Given the description of an element on the screen output the (x, y) to click on. 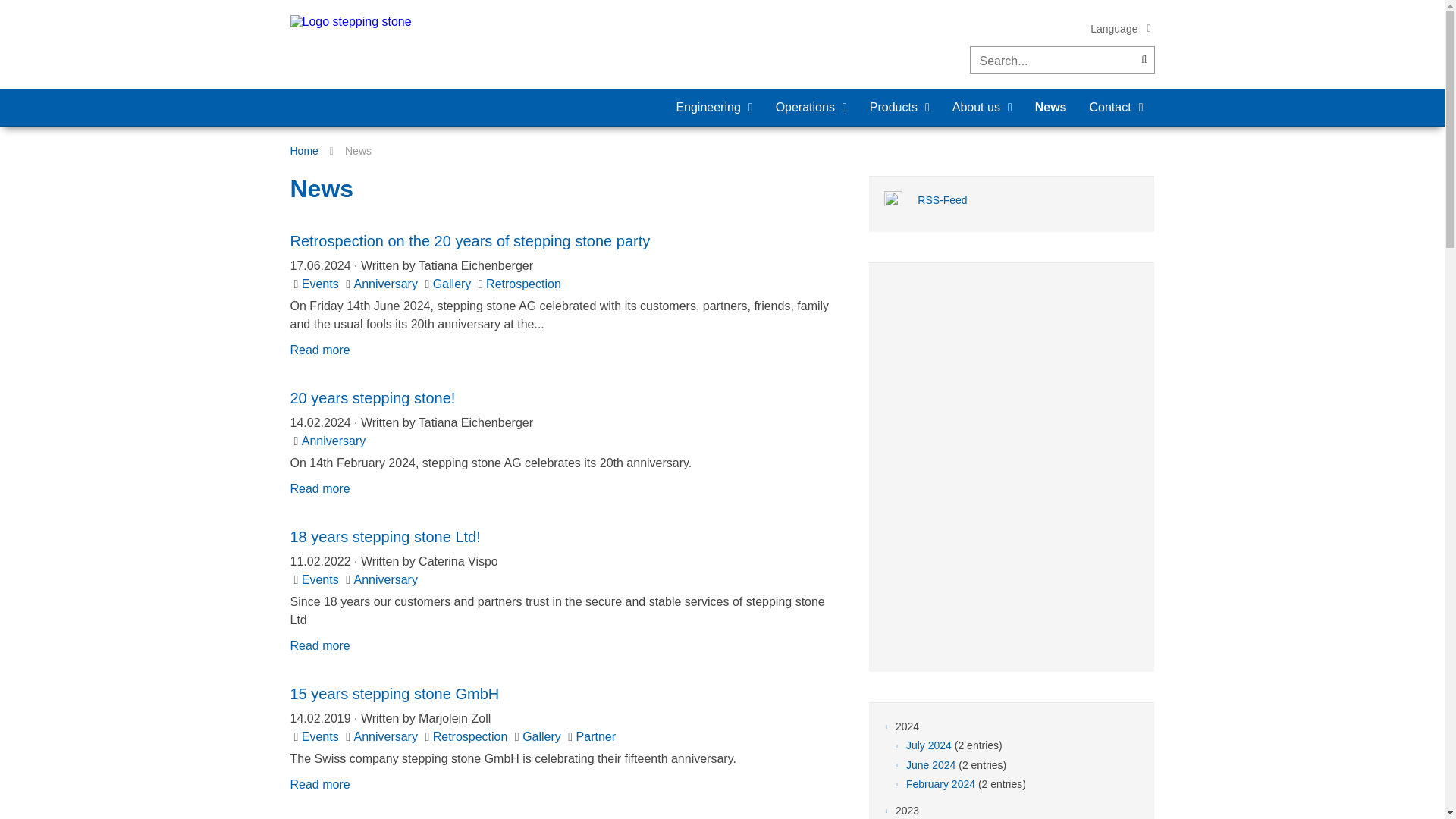
Retrospection (523, 283)
Home (303, 150)
About us (970, 107)
Gallery (453, 283)
Home (303, 150)
Anniversary (384, 579)
Engineering (701, 107)
Events (321, 283)
News (1050, 107)
Retrospection (523, 283)
Contact (1104, 107)
18 years stepping stone Ltd! (319, 645)
18 years stepping stone Ltd! (384, 536)
Retrospection on the 20 years of stepping stone party (469, 240)
Events (321, 283)
